Given the description of an element on the screen output the (x, y) to click on. 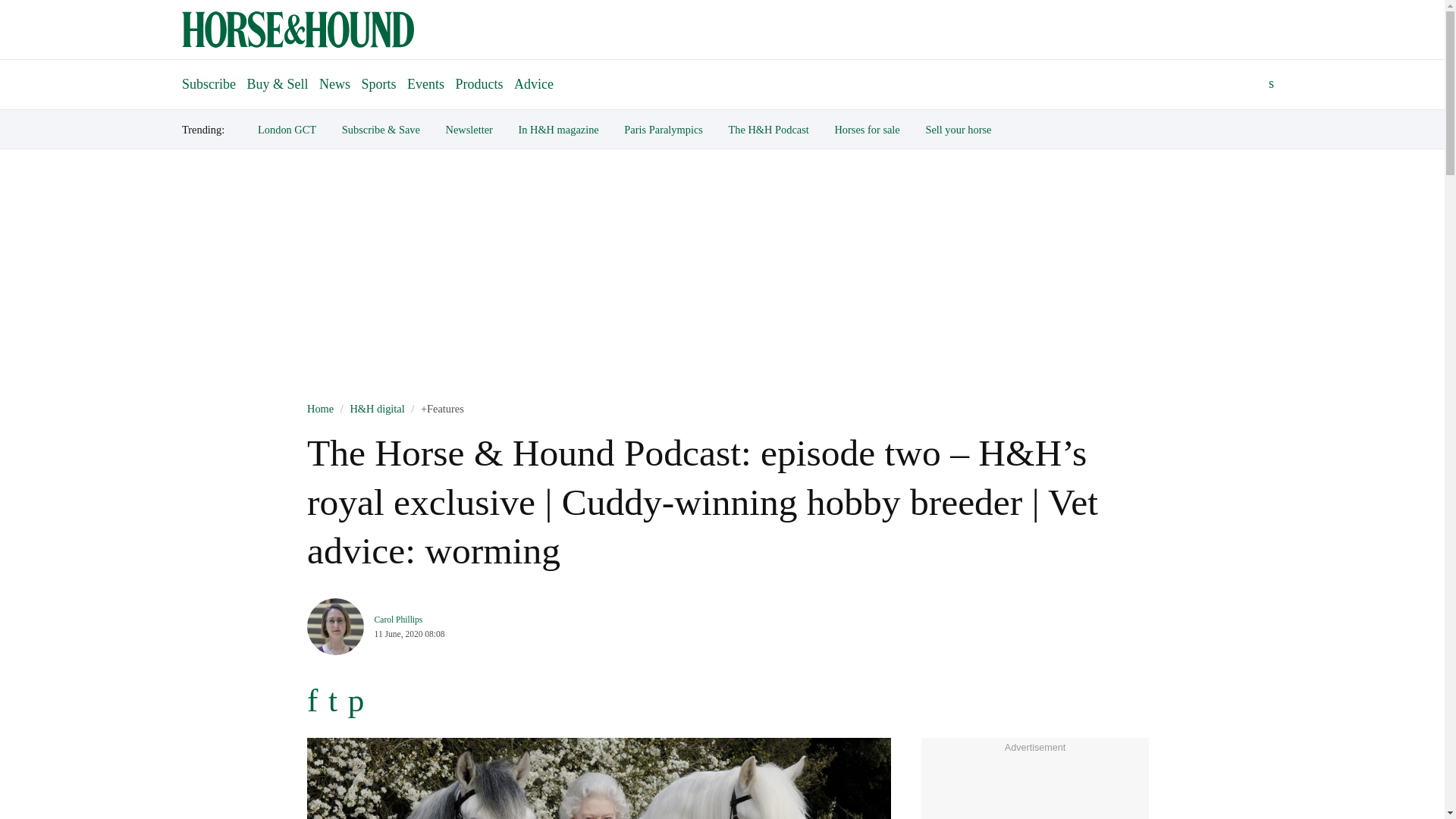
Advice (534, 83)
Subscribe (208, 77)
Products (478, 83)
Events (425, 83)
